Given the description of an element on the screen output the (x, y) to click on. 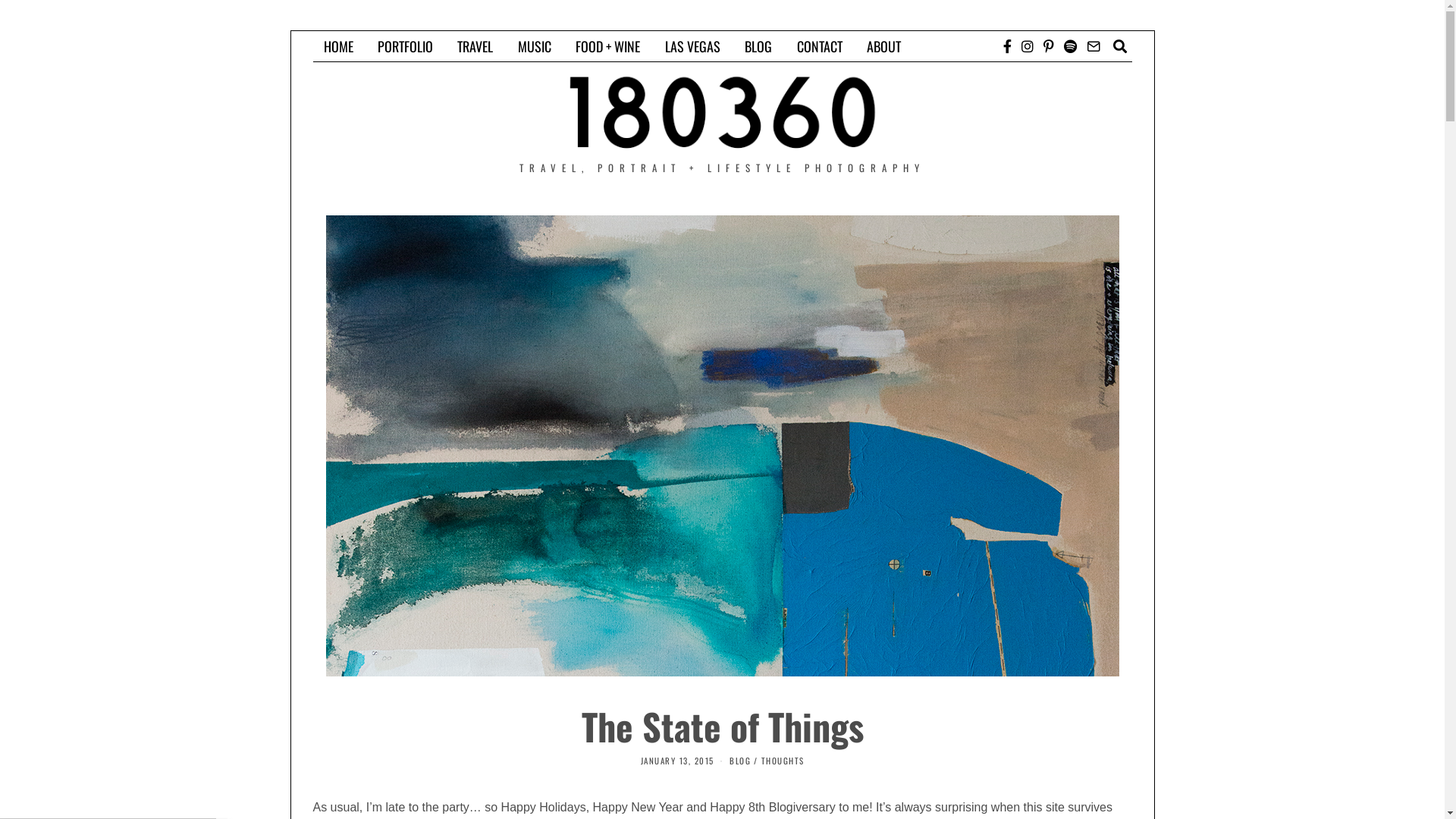
FOOD + WINE Element type: text (607, 46)
ABOUT Element type: text (883, 46)
LAS VEGAS Element type: text (692, 46)
Pinterest Element type: hover (1047, 46)
TRAVEL Element type: text (474, 46)
Facebook Element type: hover (1007, 46)
PORTFOLIO Element type: text (405, 46)
BLOG Element type: text (739, 760)
MUSIC Element type: text (534, 46)
CONTACT Element type: text (819, 46)
Spotify Element type: hover (1070, 46)
Email Element type: hover (1093, 46)
HOME Element type: text (337, 46)
THOUGHTS Element type: text (782, 760)
BLOG Element type: text (758, 46)
Instagram Element type: hover (1027, 46)
